Given the description of an element on the screen output the (x, y) to click on. 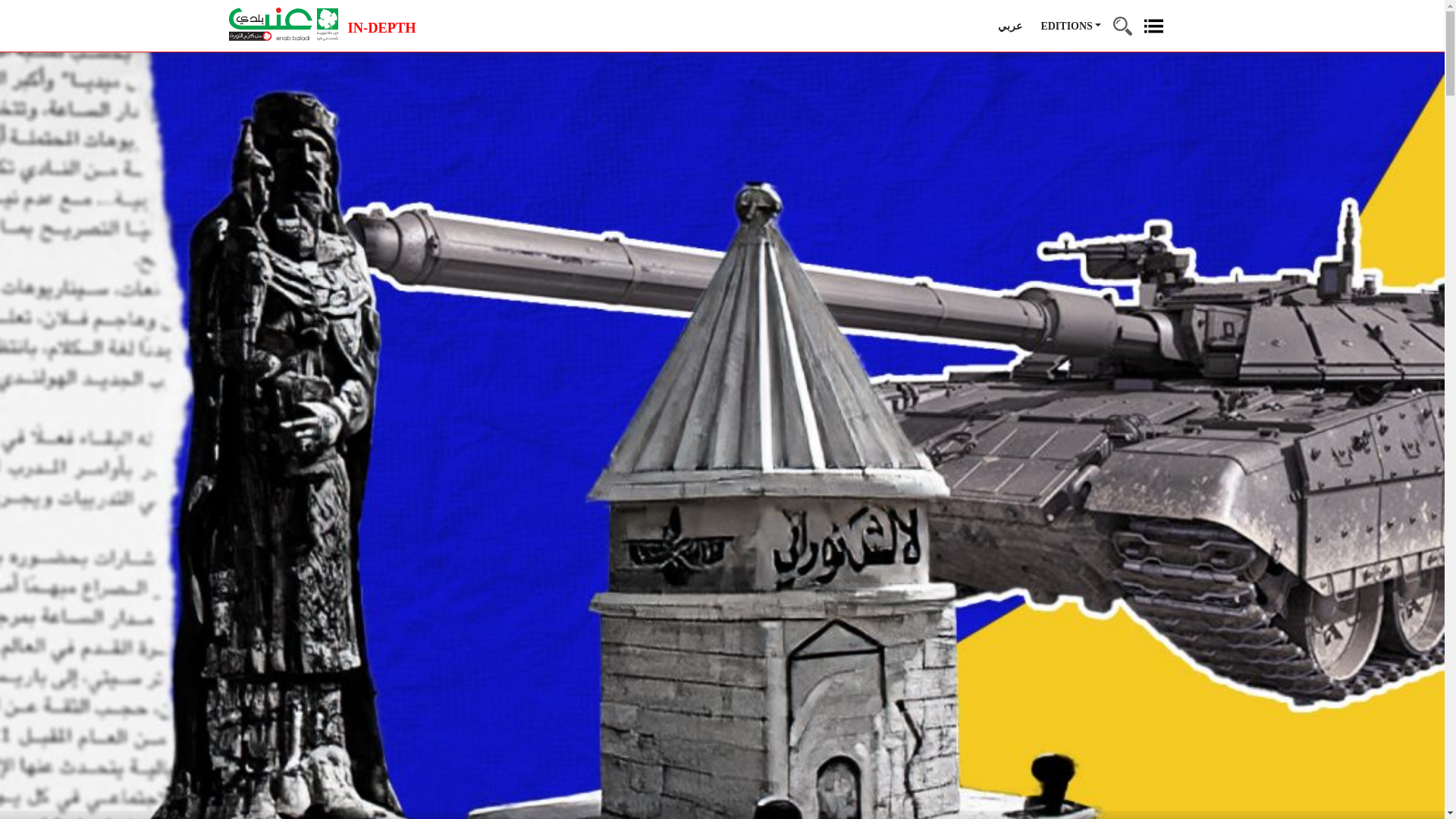
logo (282, 24)
IN-DEPTH (382, 28)
EDITIONS (1070, 25)
